Given the description of an element on the screen output the (x, y) to click on. 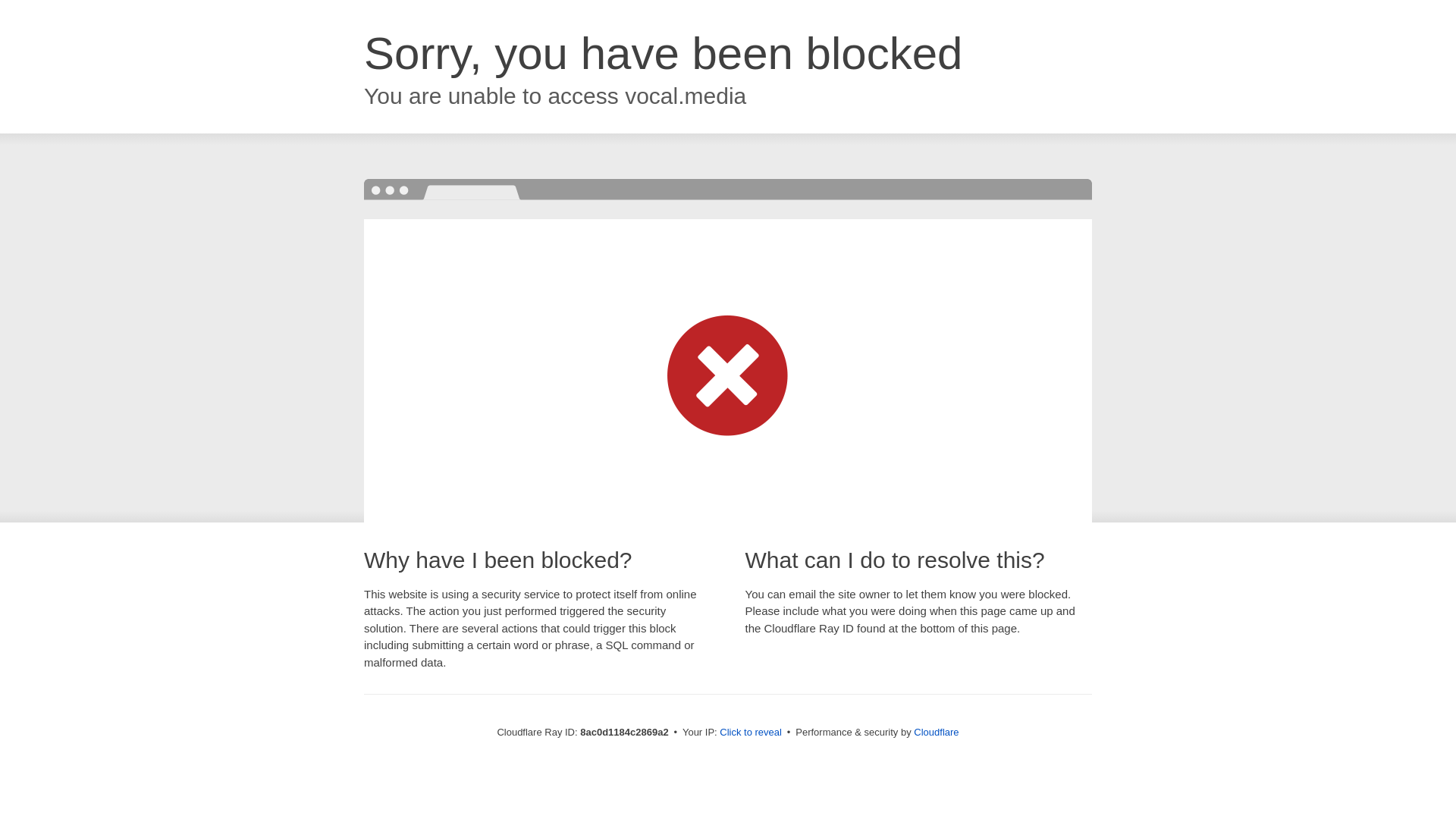
Click to reveal (750, 732)
Cloudflare (936, 731)
